Given the description of an element on the screen output the (x, y) to click on. 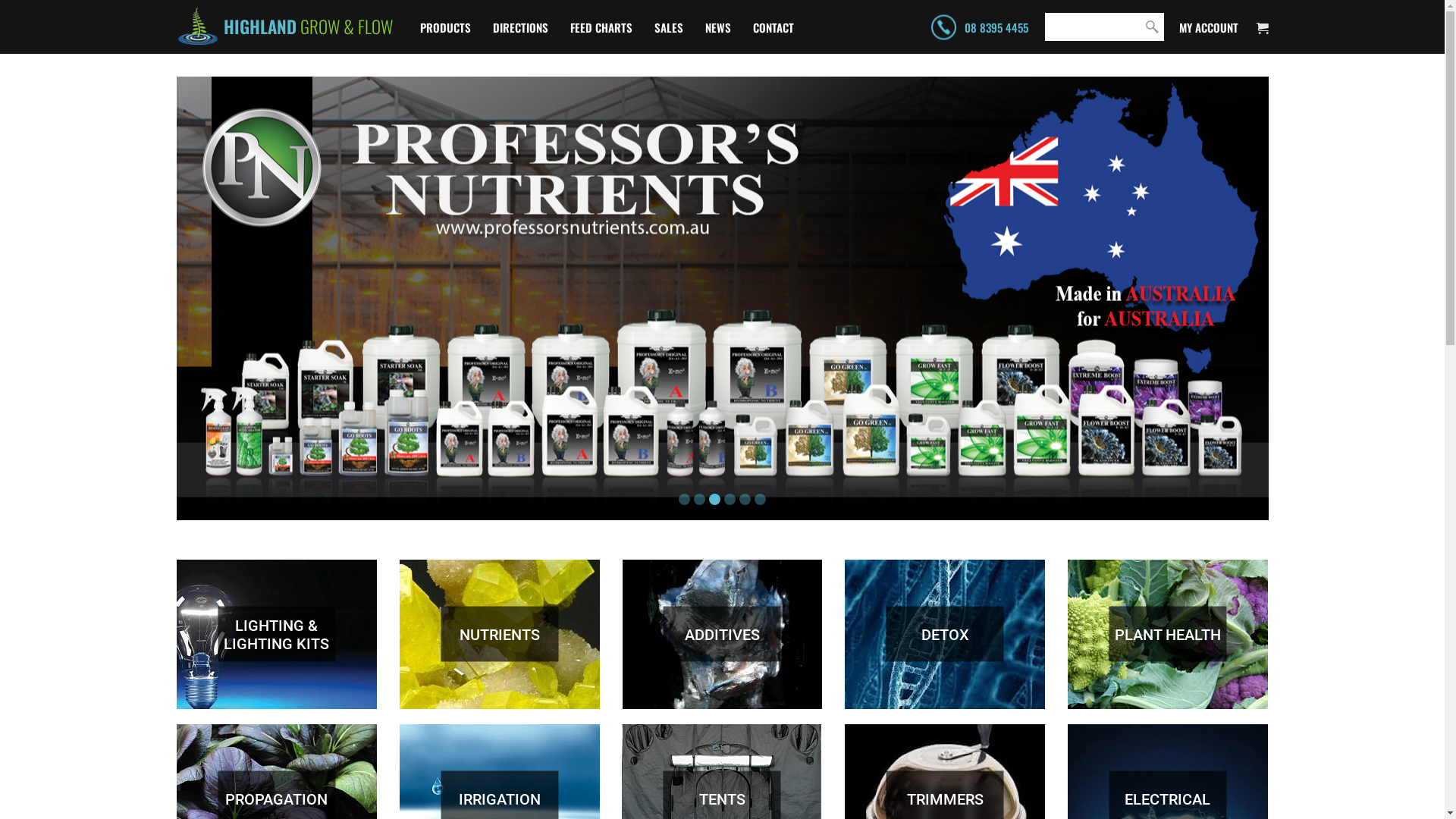
DETOX Element type: text (944, 634)
ADDITIVES Element type: text (721, 634)
PRODUCTS Element type: text (445, 27)
View your shopping cart Element type: hover (1261, 26)
HIGHLAND GROW & FLOW Element type: text (283, 26)
NUTRIENTS Element type: text (498, 634)
MY ACCOUNT Element type: text (1207, 26)
FEED CHARTS Element type: text (601, 27)
3 Element type: text (714, 499)
08 8395 4455 Element type: text (978, 26)
1 Element type: text (684, 499)
4 Element type: text (729, 499)
5 Element type: text (744, 499)
2 Element type: text (699, 499)
6 Element type: text (759, 499)
SALES Element type: text (667, 27)
PLANT HEALTH Element type: text (1166, 634)
DIRECTIONS Element type: text (520, 27)
CONTACT Element type: text (772, 27)
NEWS Element type: text (718, 27)
LIGHTING & LIGHTING KITS Element type: text (275, 634)
